Given the description of an element on the screen output the (x, y) to click on. 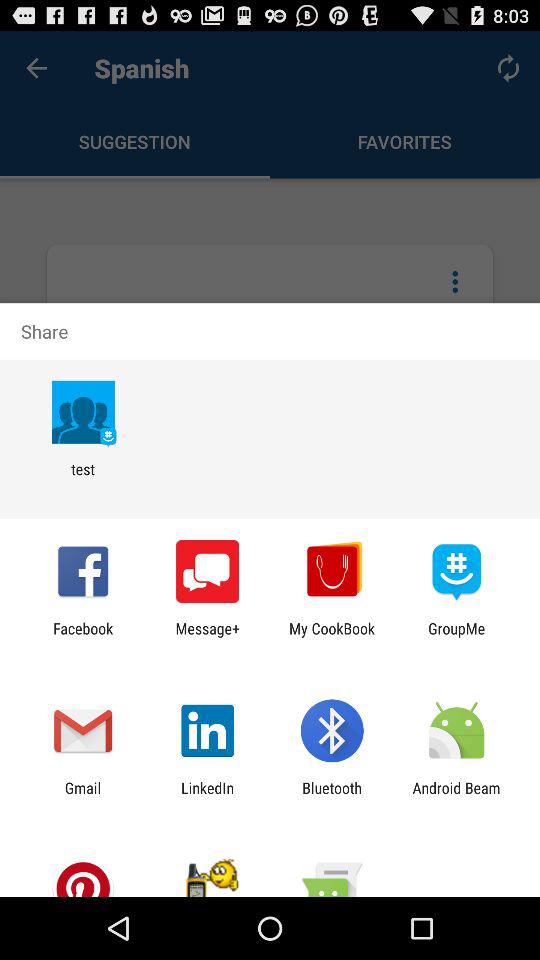
choose the icon to the right of bluetooth (456, 796)
